Given the description of an element on the screen output the (x, y) to click on. 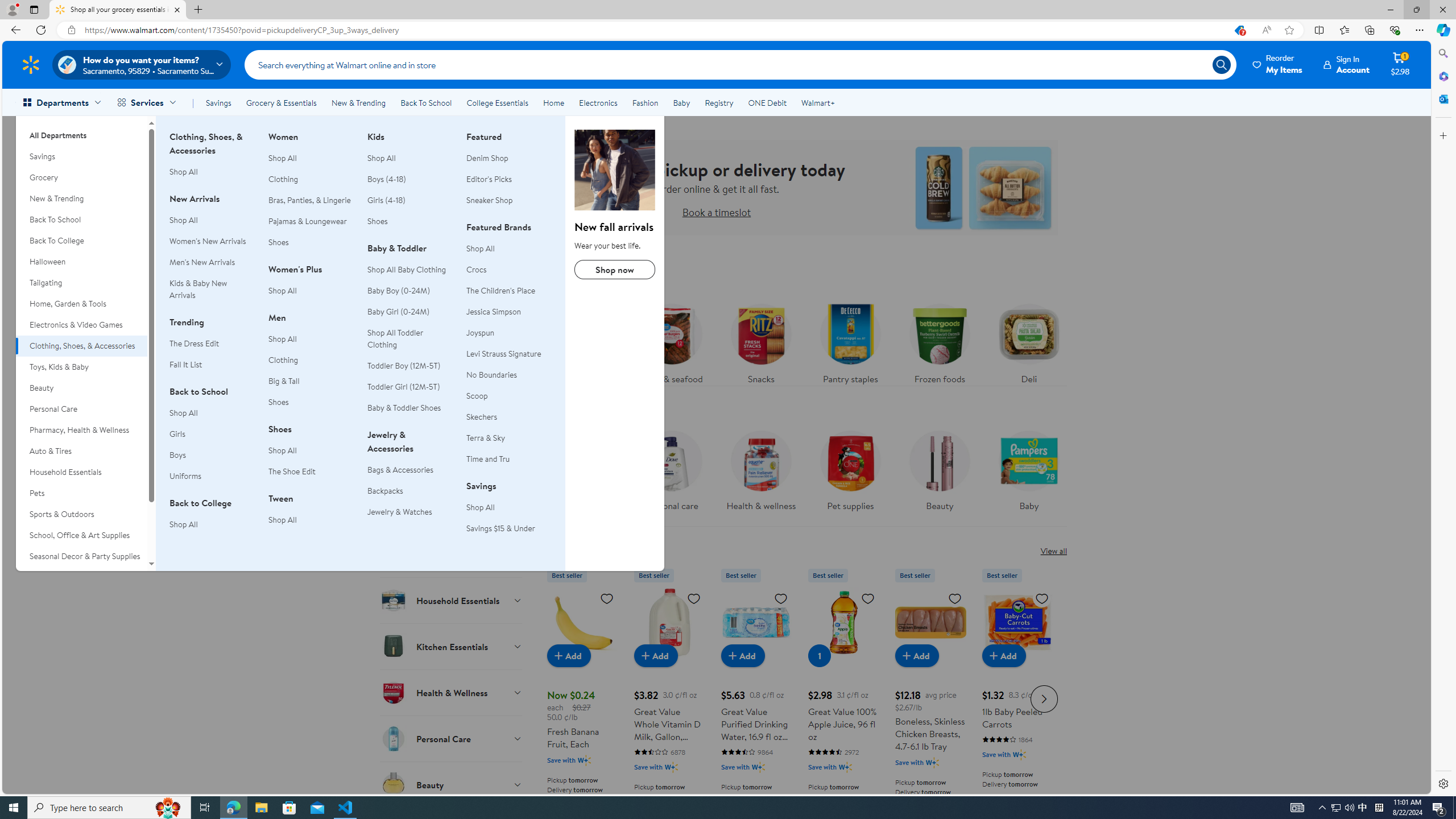
School, Office & Art Supplies (81, 535)
Boys (211, 455)
Pet supplies (850, 467)
Auto & Tires (81, 450)
Pet supplies (850, 473)
Snacks (760, 340)
Shop All Toddler Clothing (409, 338)
Back to SchoolShop AllGirlsBoysUniforms (211, 440)
Big & Tall (283, 380)
Clothing, Shoes, & Accessories (81, 345)
Walmart+ (817, 102)
